Given the description of an element on the screen output the (x, y) to click on. 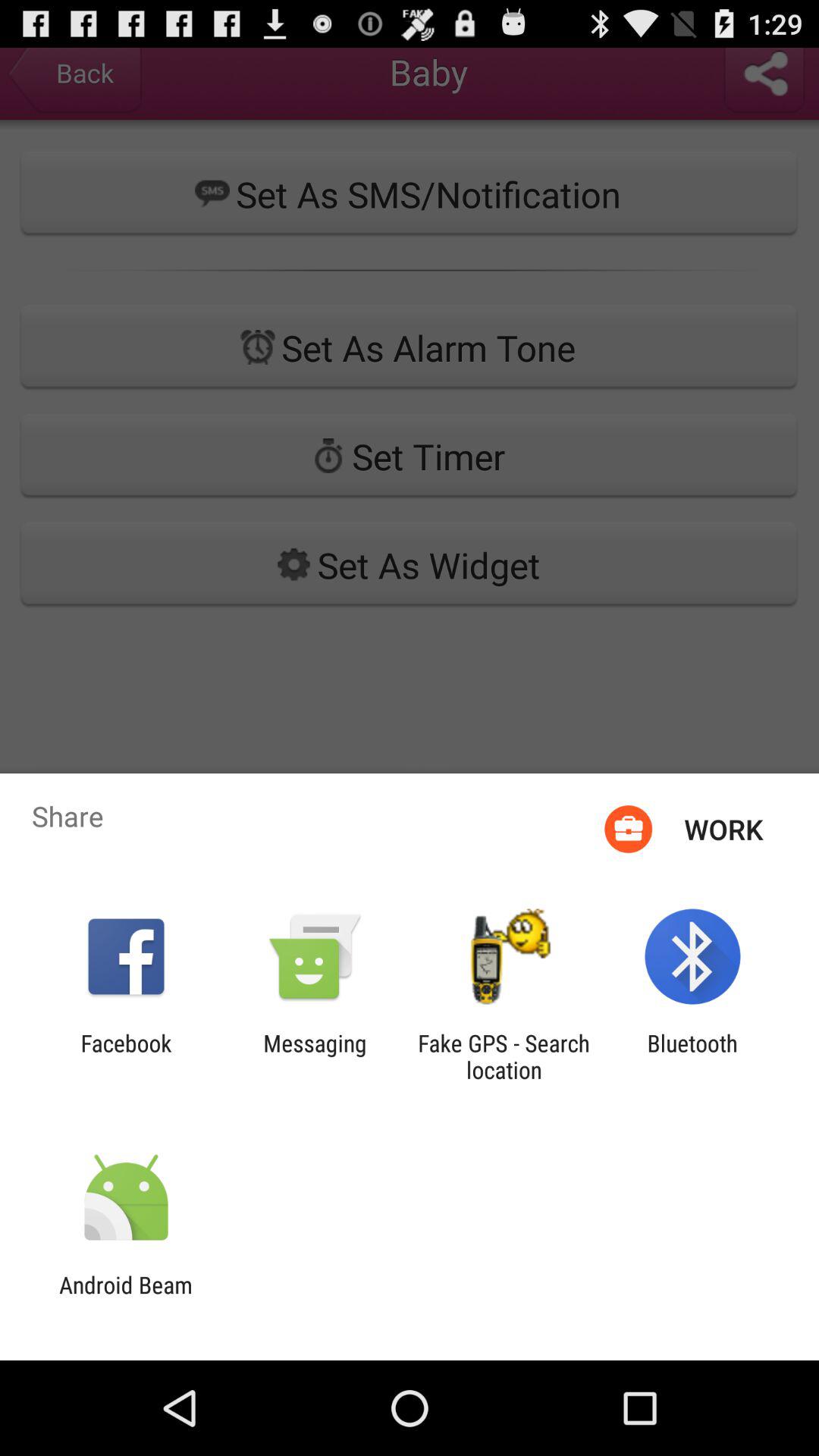
press fake gps search (503, 1056)
